Given the description of an element on the screen output the (x, y) to click on. 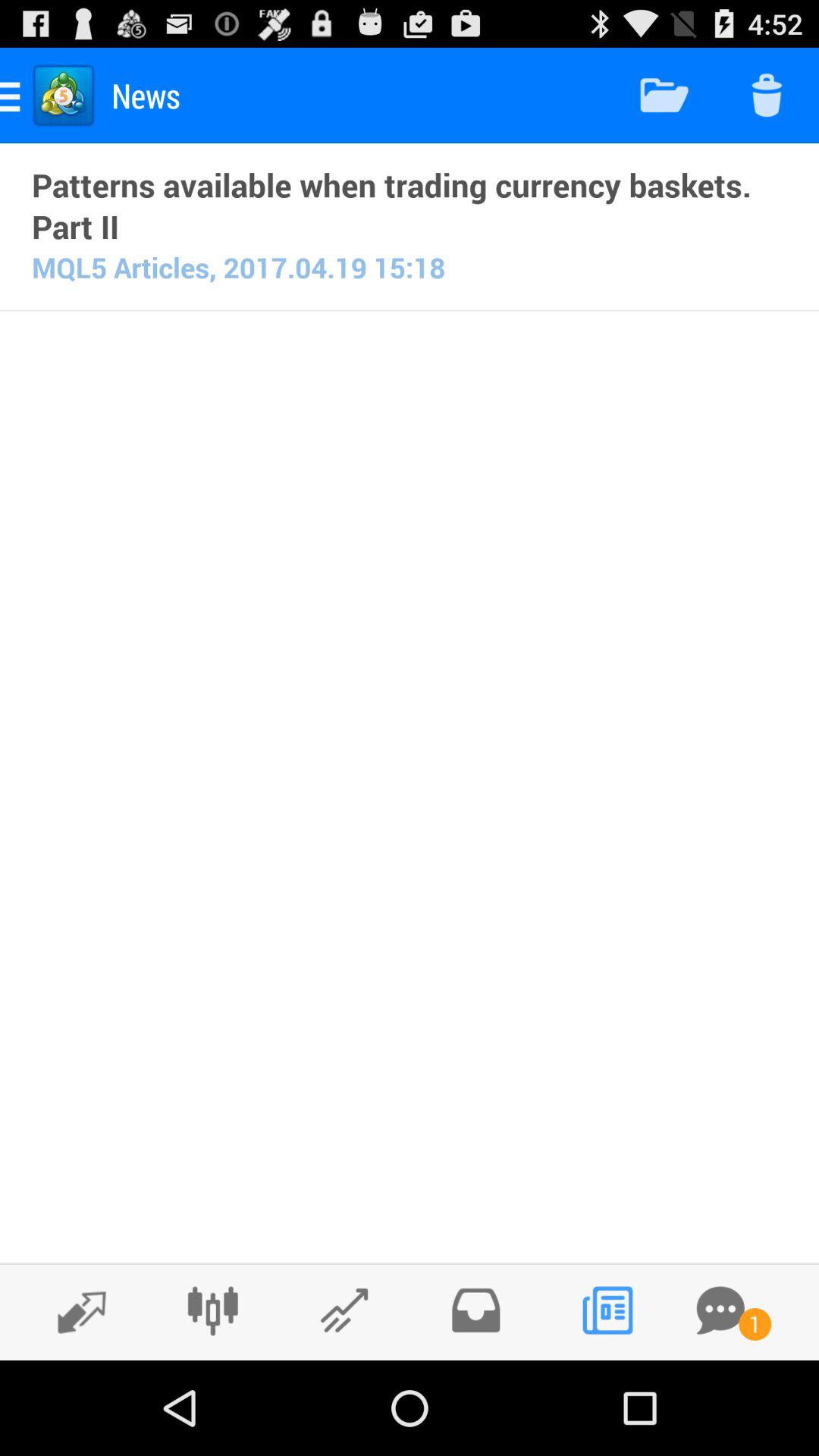
see articles (606, 1310)
